Given the description of an element on the screen output the (x, y) to click on. 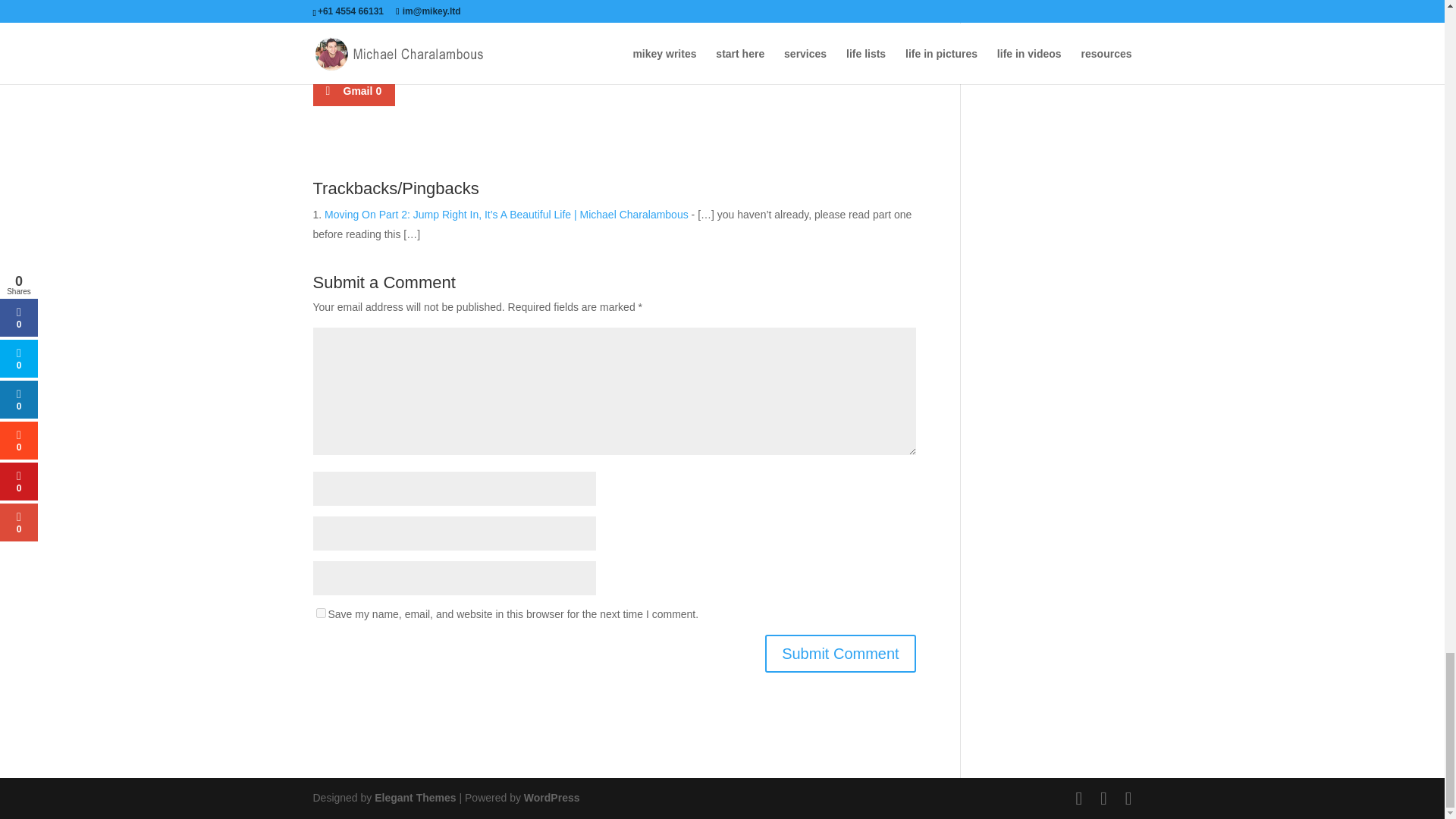
yes (319, 613)
reddit0 (667, 48)
Submit Comment (840, 653)
Gmail0 (353, 91)
Premium WordPress Themes (414, 797)
linkedin0 (567, 48)
Submit Comment (840, 653)
facebook0 (362, 48)
twitter0 (467, 48)
Pinterest0 (769, 48)
